Given the description of an element on the screen output the (x, y) to click on. 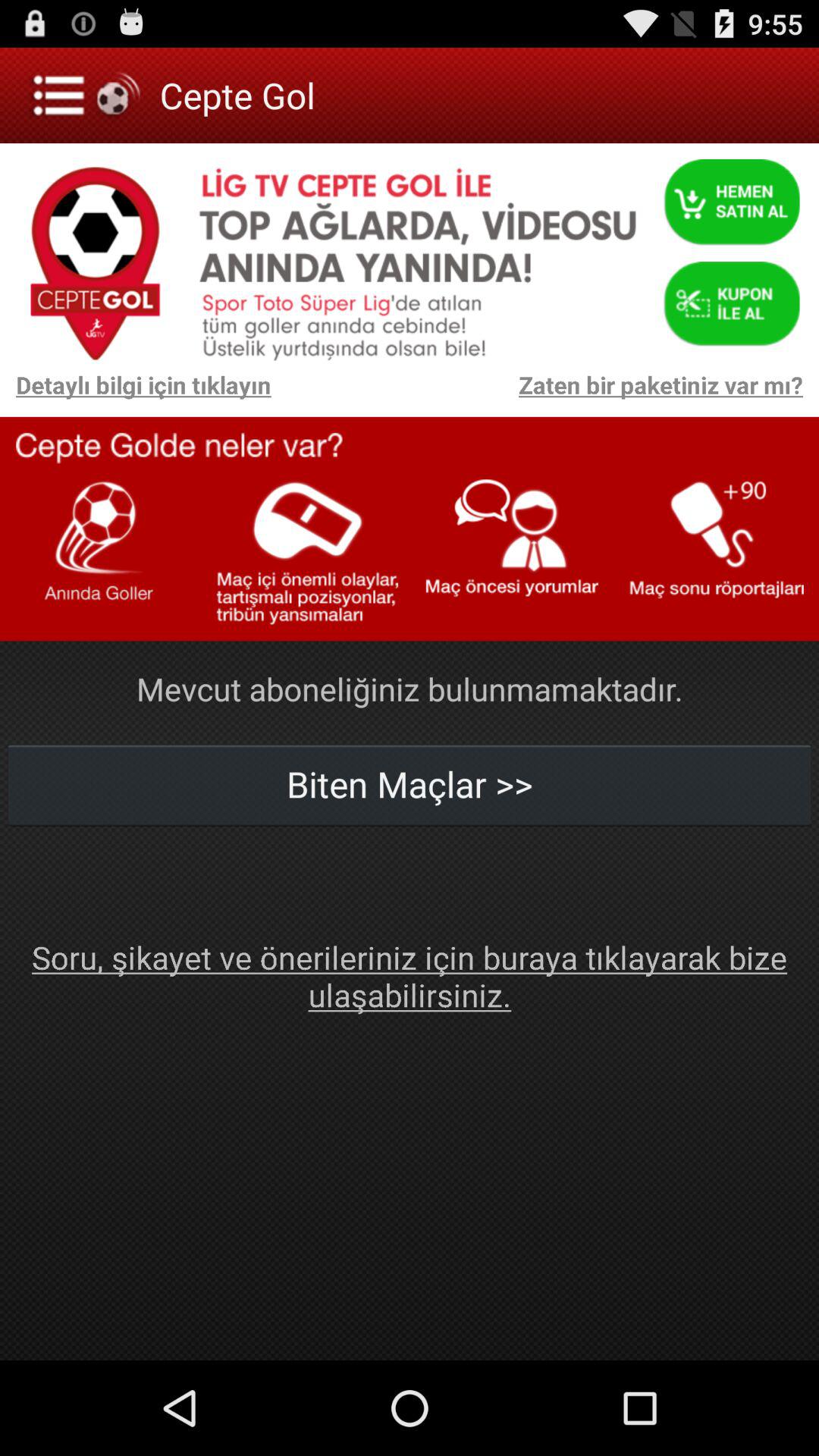
press app next to zaten bir paketiniz icon (135, 392)
